Given the description of an element on the screen output the (x, y) to click on. 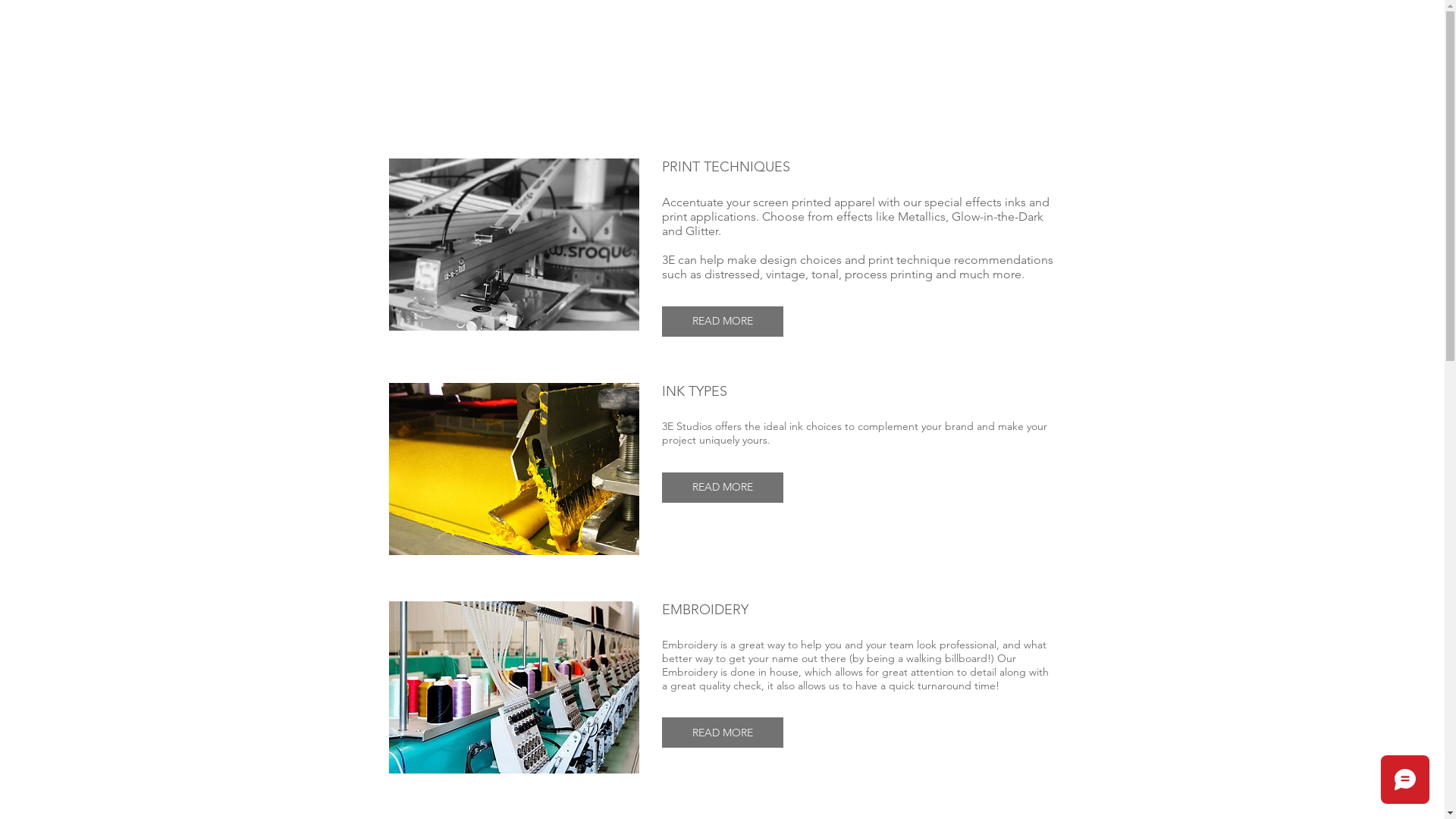
READ MORE Element type: text (721, 487)
press-background.png Element type: hover (513, 244)
EMBROIDERY.jpg Element type: hover (513, 687)
ink.jpg Element type: hover (513, 468)
READ MORE Element type: text (721, 321)
